Given the description of an element on the screen output the (x, y) to click on. 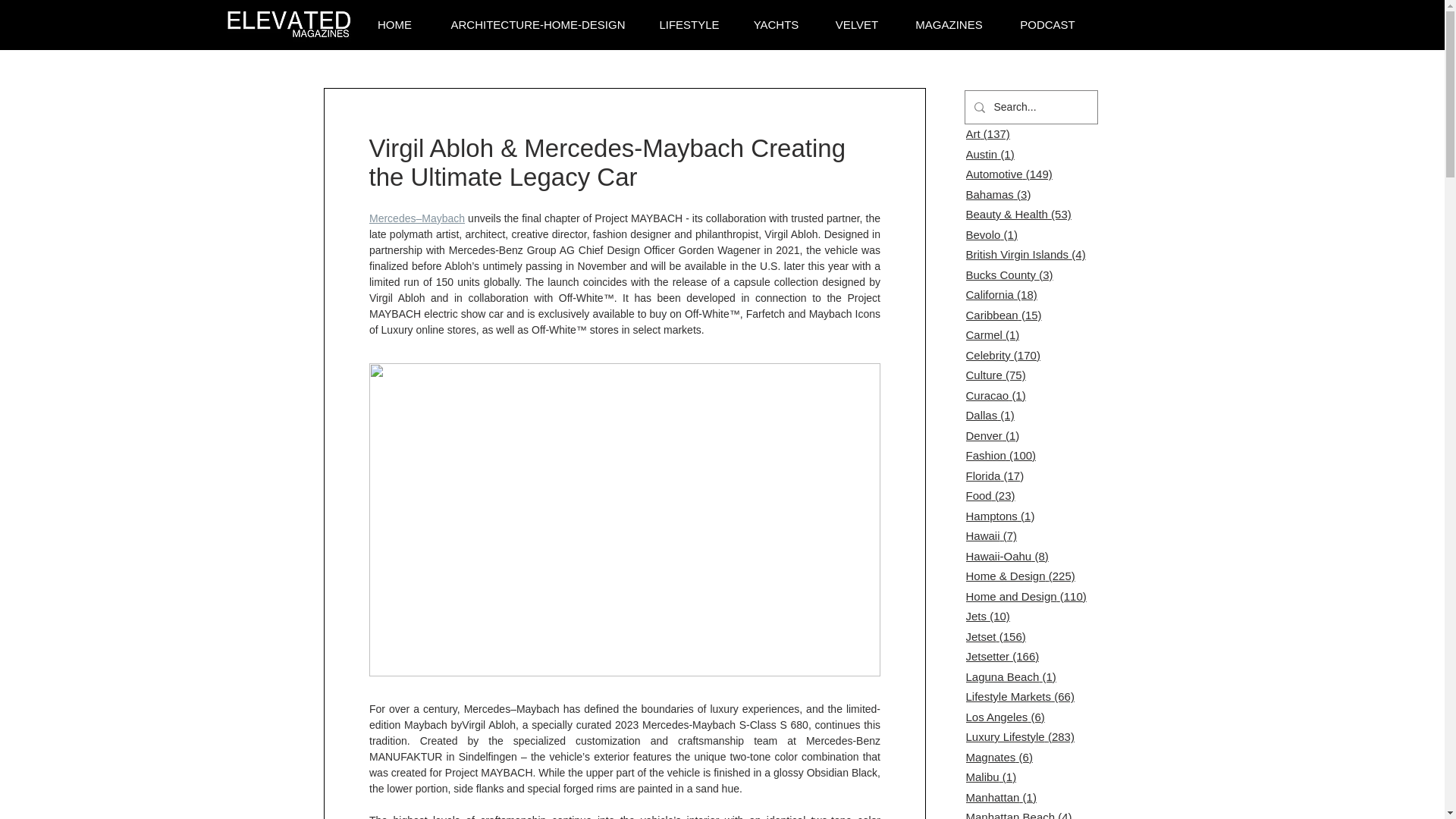
HOME (394, 25)
YACHTS (775, 25)
VELVET (856, 25)
MAGAZINES (948, 25)
PODCAST (1047, 25)
